Given the description of an element on the screen output the (x, y) to click on. 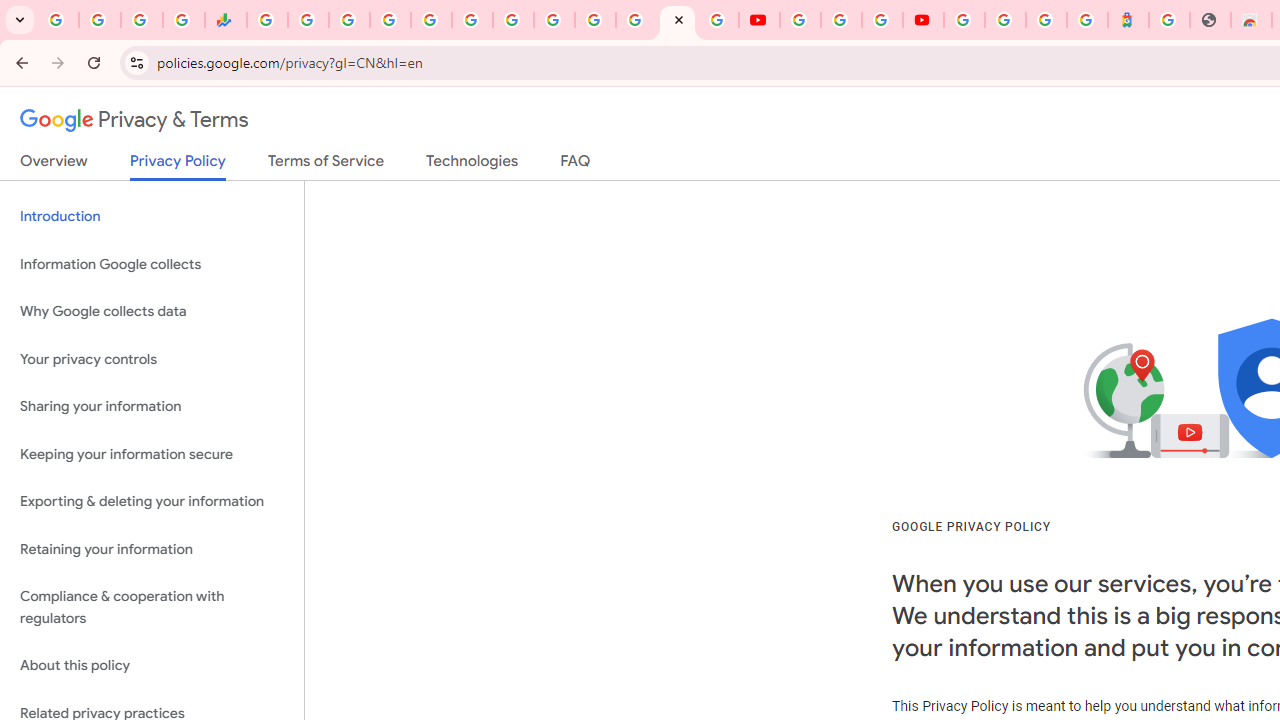
Sign in - Google Accounts (964, 20)
Privacy Checkup (717, 20)
Sharing your information (152, 407)
Information Google collects (152, 263)
Compliance & cooperation with regulators (152, 607)
